Given the description of an element on the screen output the (x, y) to click on. 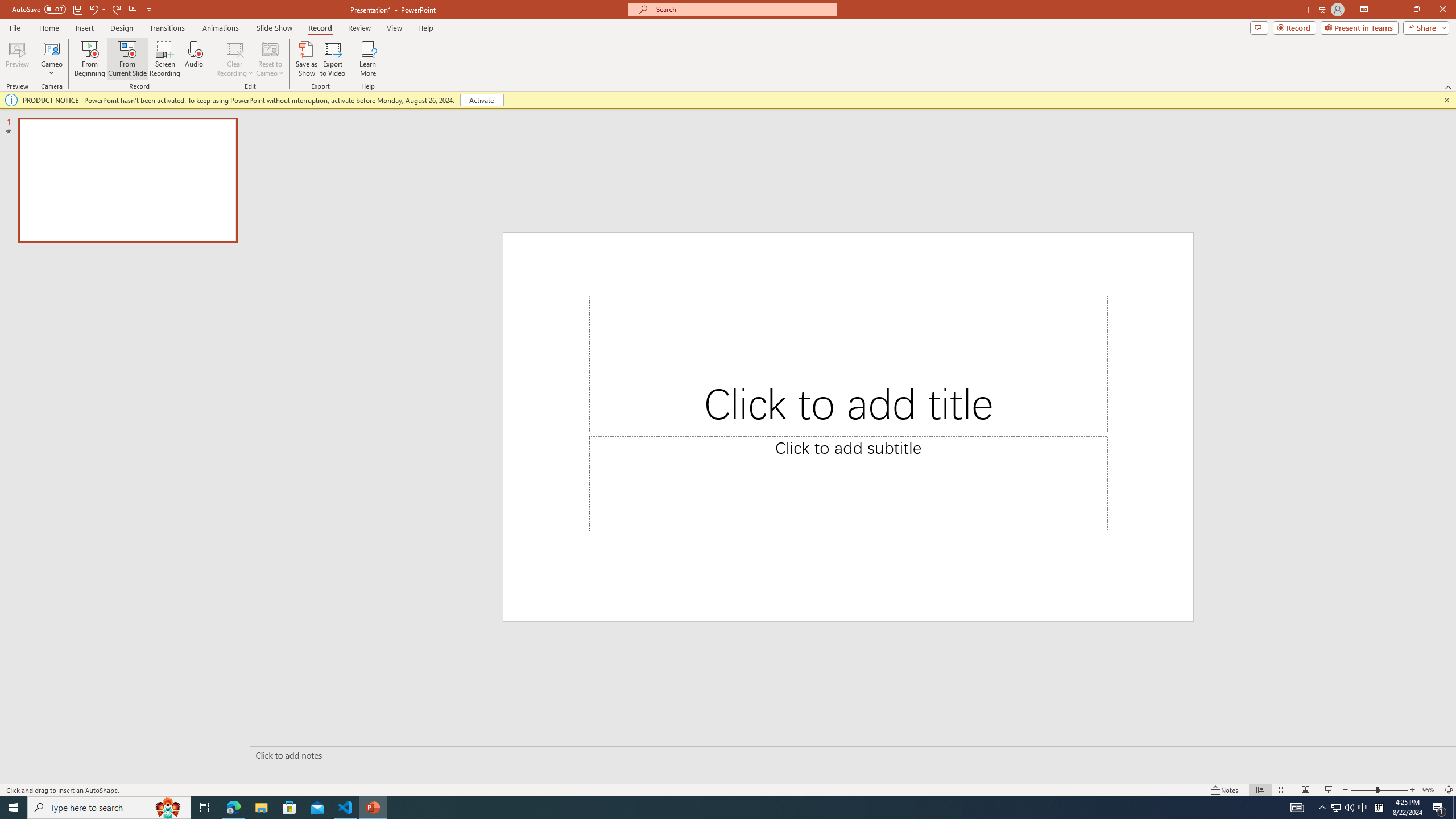
From Current Slide... (127, 58)
